Given the description of an element on the screen output the (x, y) to click on. 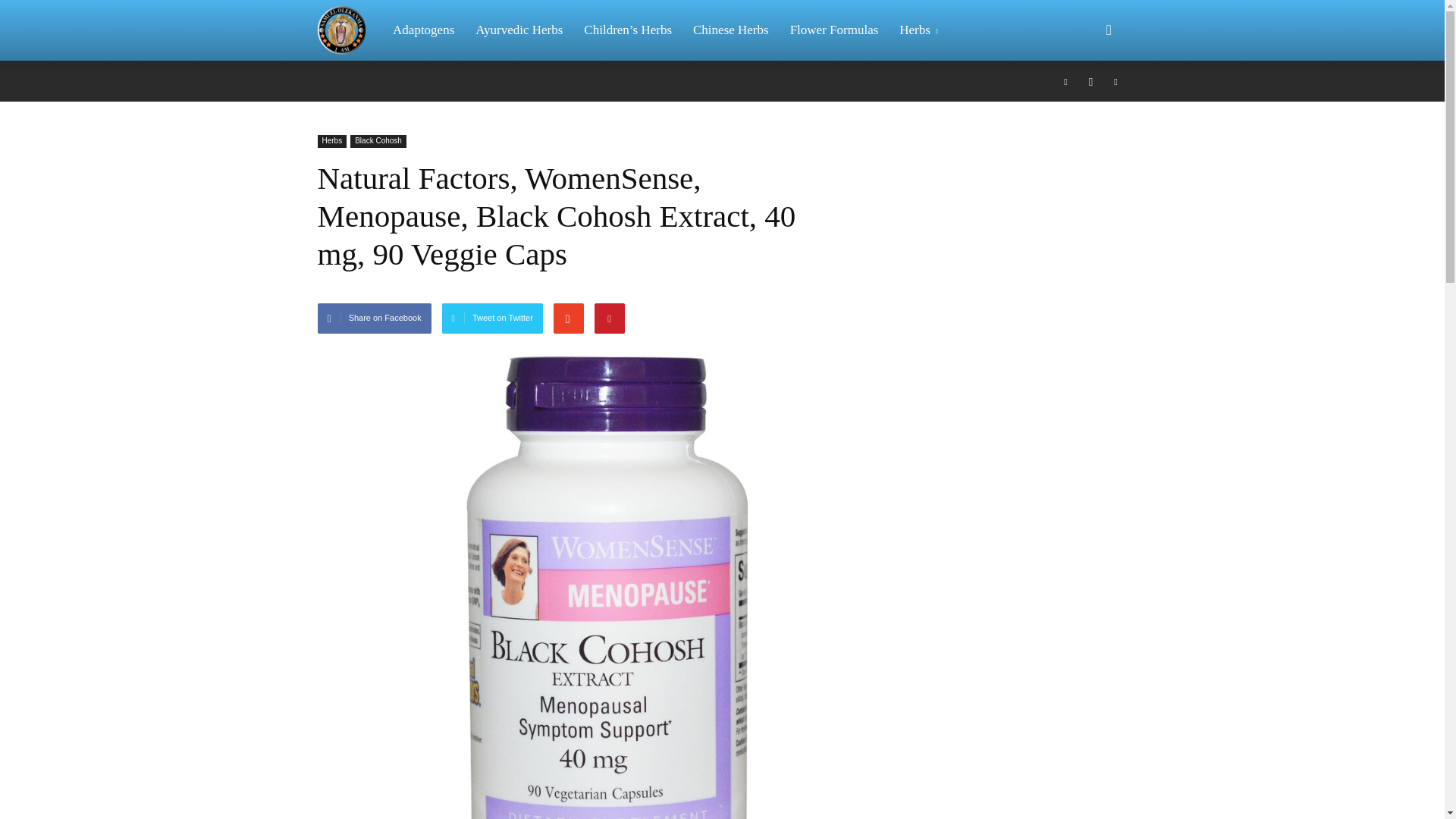
Samuel Olekanma Nutrition and Herbs Blog (349, 30)
Adaptogens (422, 30)
Ayurvedic Herbs (518, 30)
Chinese Herbs (730, 30)
